Given the description of an element on the screen output the (x, y) to click on. 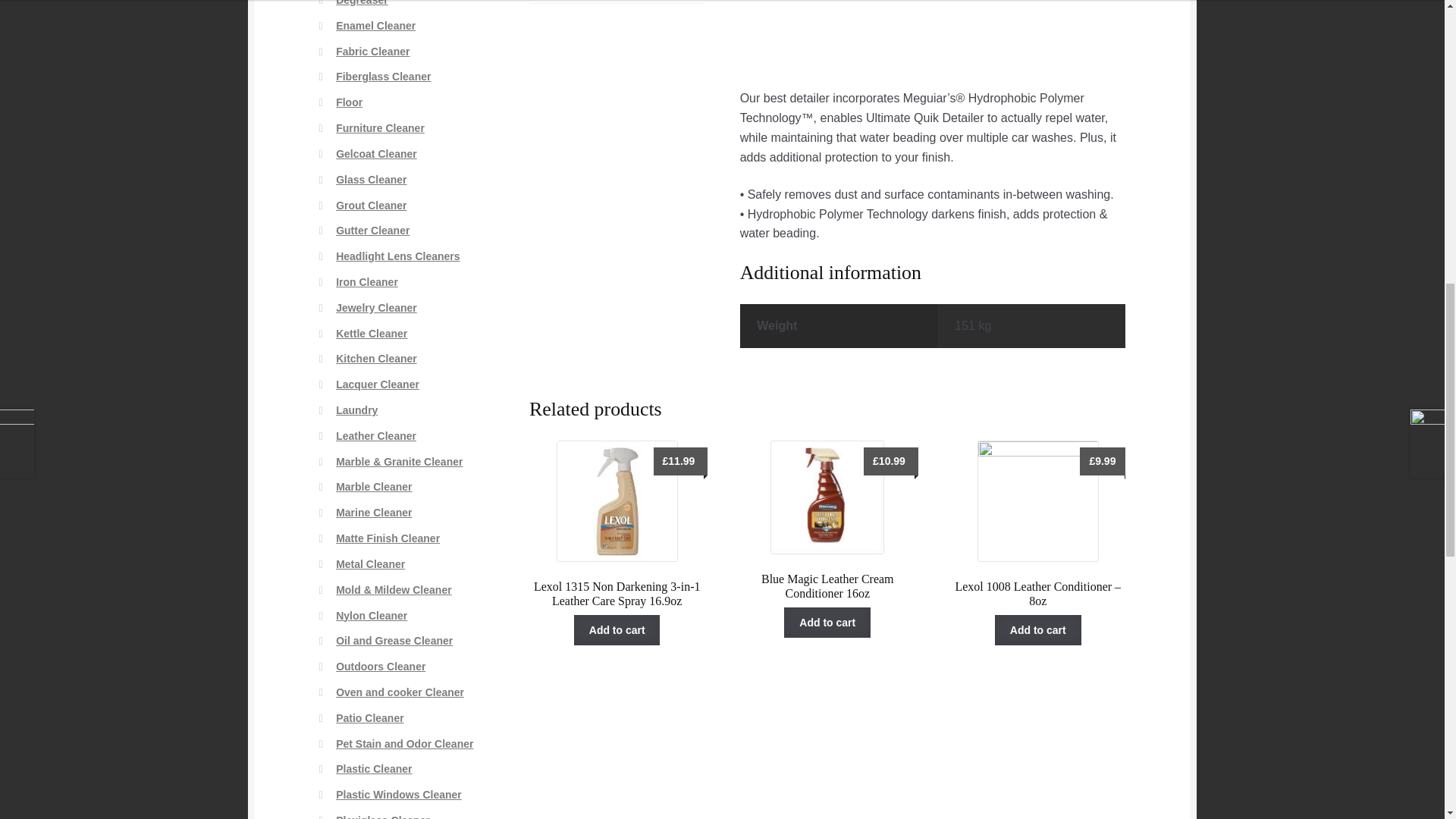
Add to cart (827, 622)
ADDITIONAL INFORMATION (616, 1)
Add to cart (617, 630)
Add to cart (1037, 630)
